Given the description of an element on the screen output the (x, y) to click on. 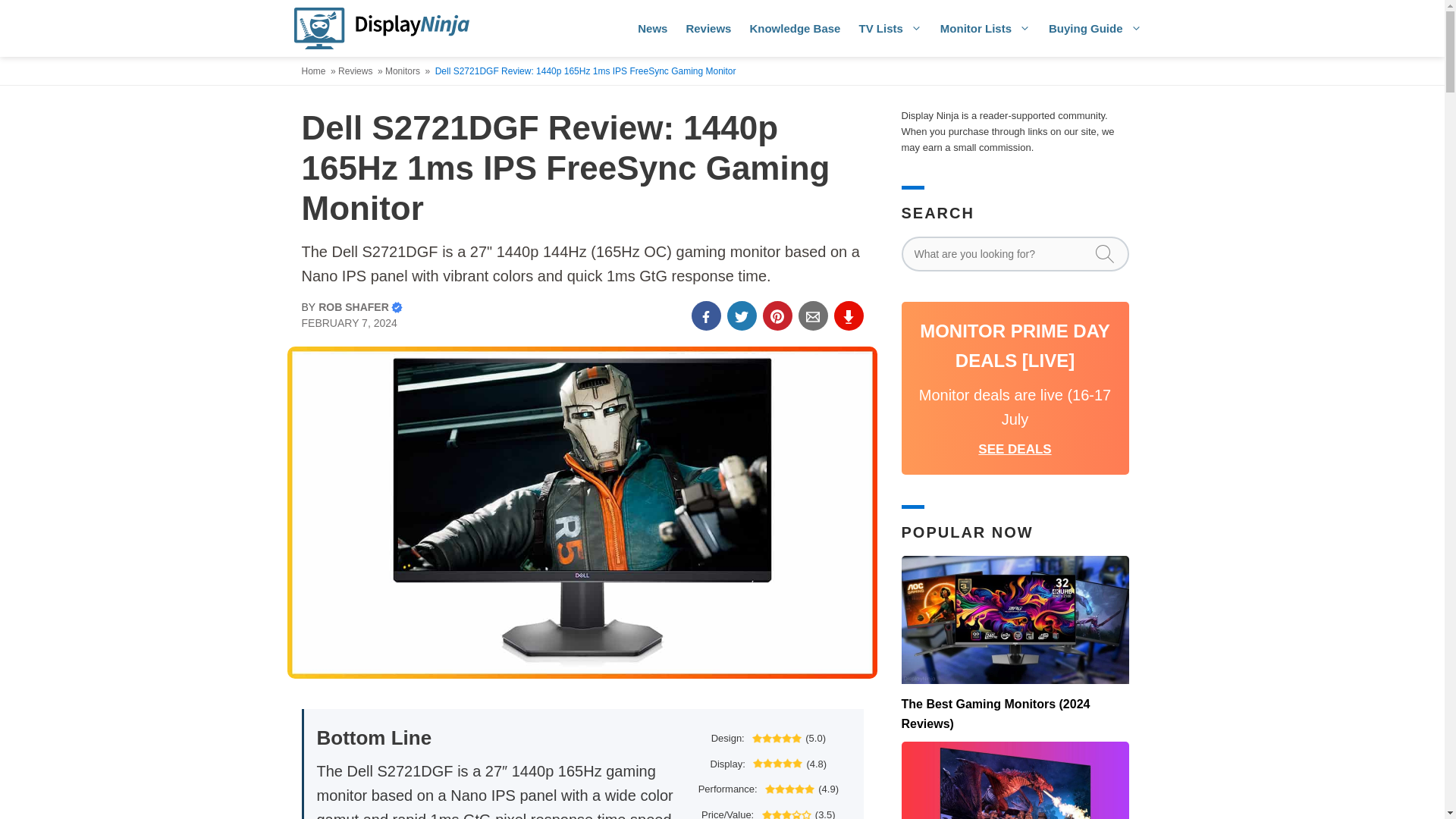
Download PDF (848, 315)
Search for: (1014, 253)
Display Ninja (381, 28)
